Given the description of an element on the screen output the (x, y) to click on. 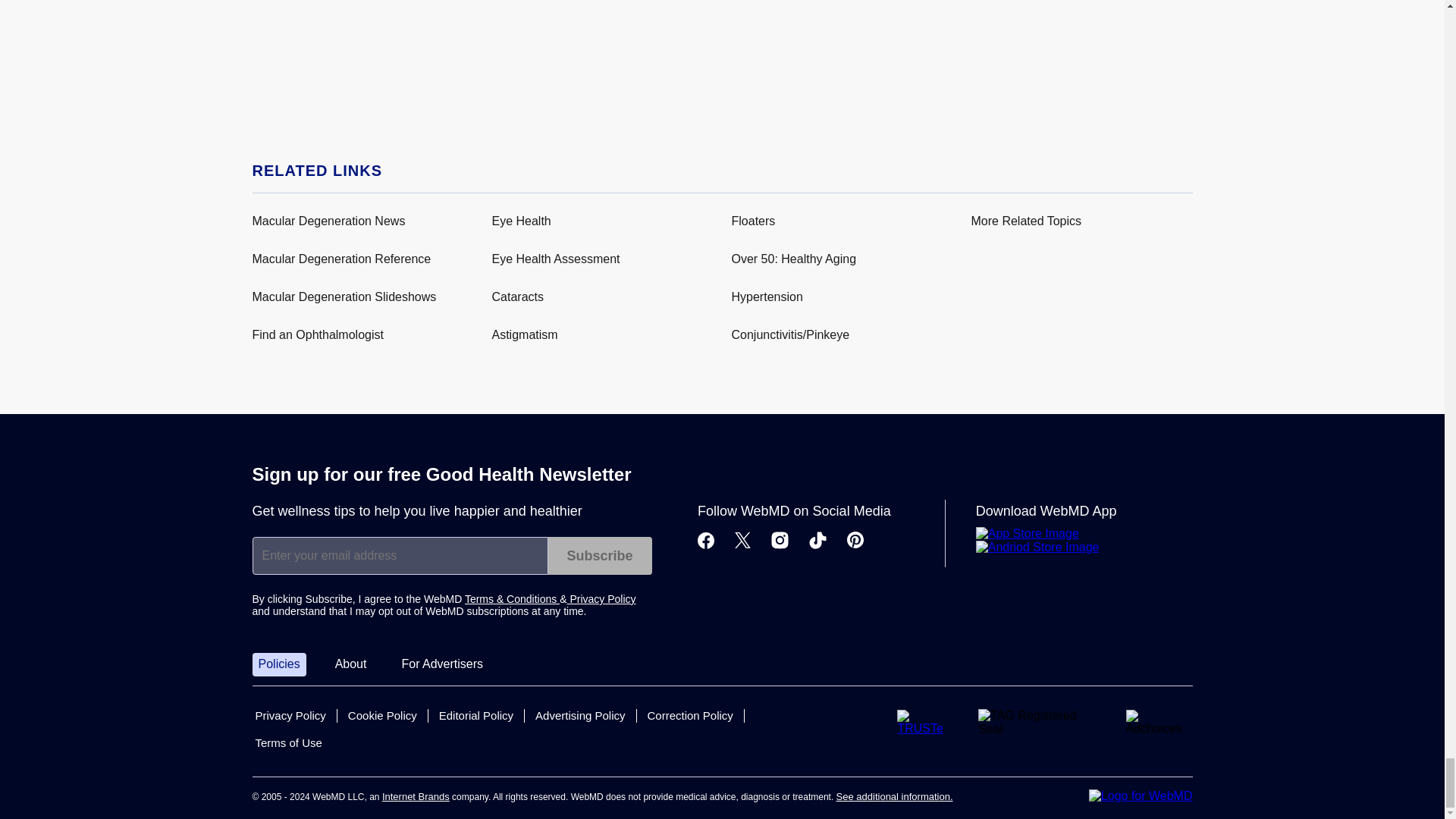
Adchoices (1158, 722)
TAG Registered Seal (1039, 723)
TRUSTe Privacy Certification (924, 722)
WebMD: Better information. Better health. (1140, 796)
